Given the description of an element on the screen output the (x, y) to click on. 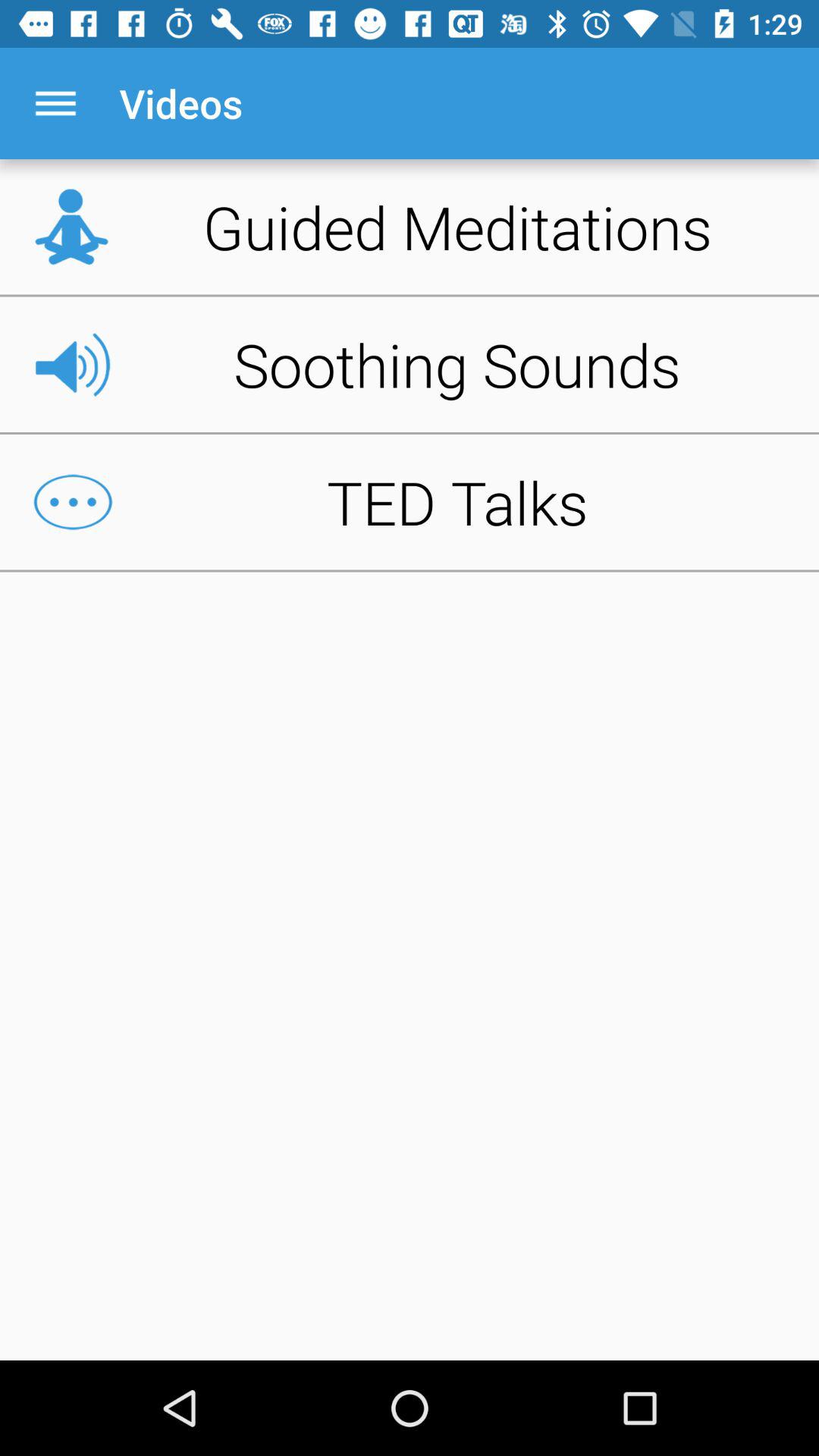
turn on guided meditations (409, 226)
